Given the description of an element on the screen output the (x, y) to click on. 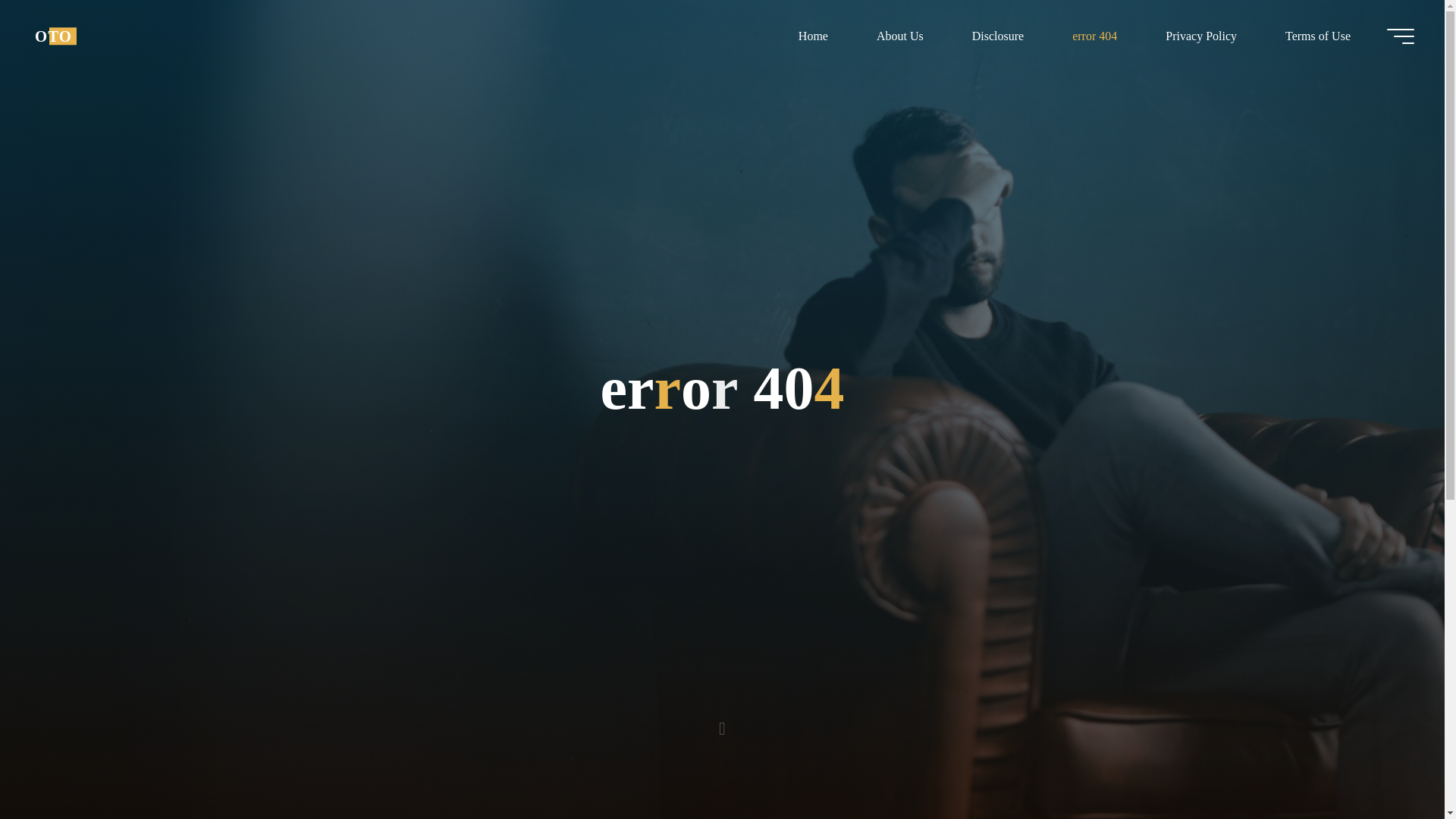
Privacy Policy (1200, 35)
Terms of Use (1317, 35)
Disclosure (997, 35)
Home (812, 35)
Read more (721, 724)
error 404 (1094, 35)
OTO (53, 36)
About Us (899, 35)
